Given the description of an element on the screen output the (x, y) to click on. 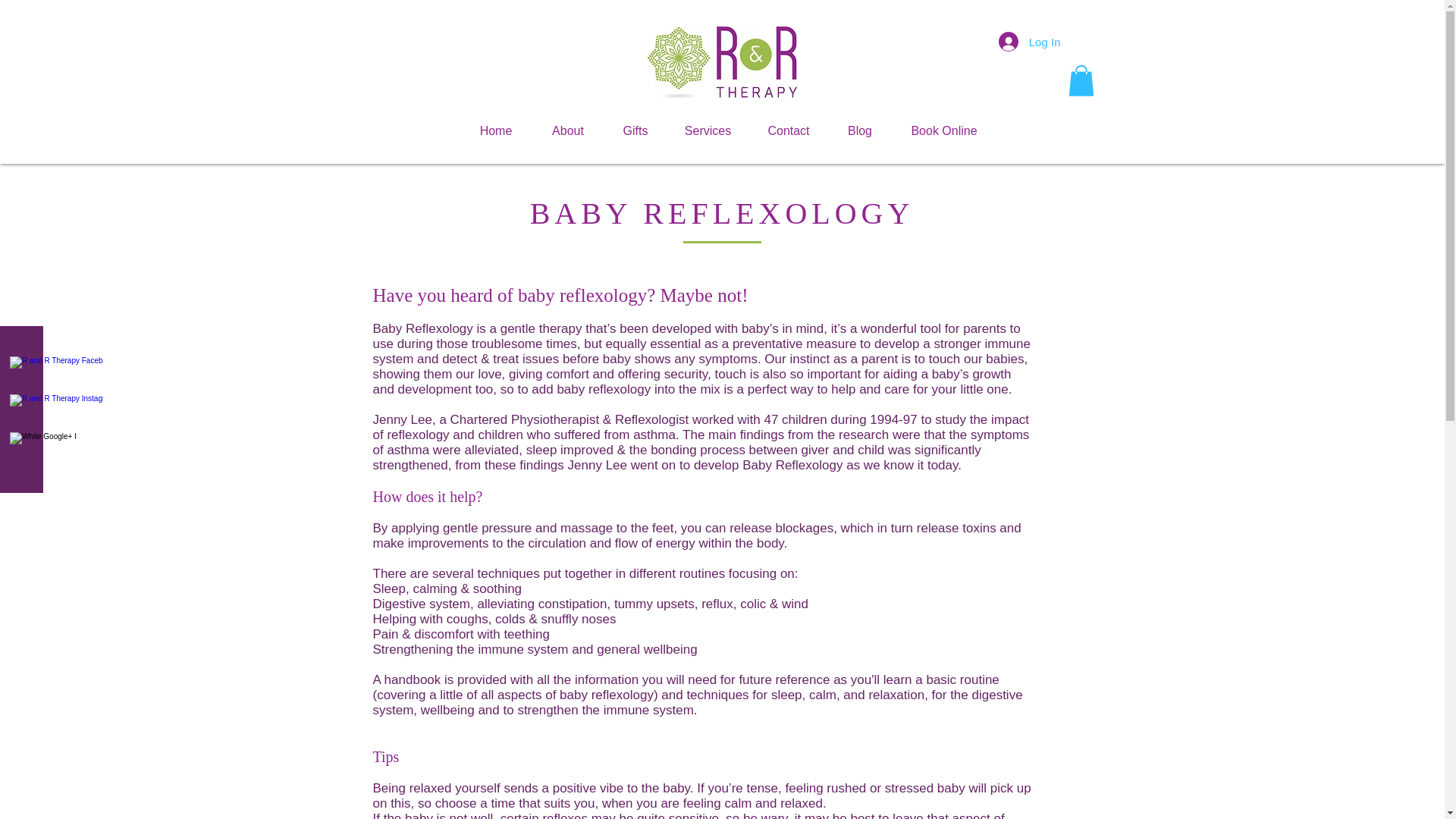
Gifts (635, 130)
About (568, 130)
Services (707, 130)
Home (495, 130)
Book Online (944, 130)
Log In (1029, 41)
Blog (859, 130)
Contact (788, 130)
